Given the description of an element on the screen output the (x, y) to click on. 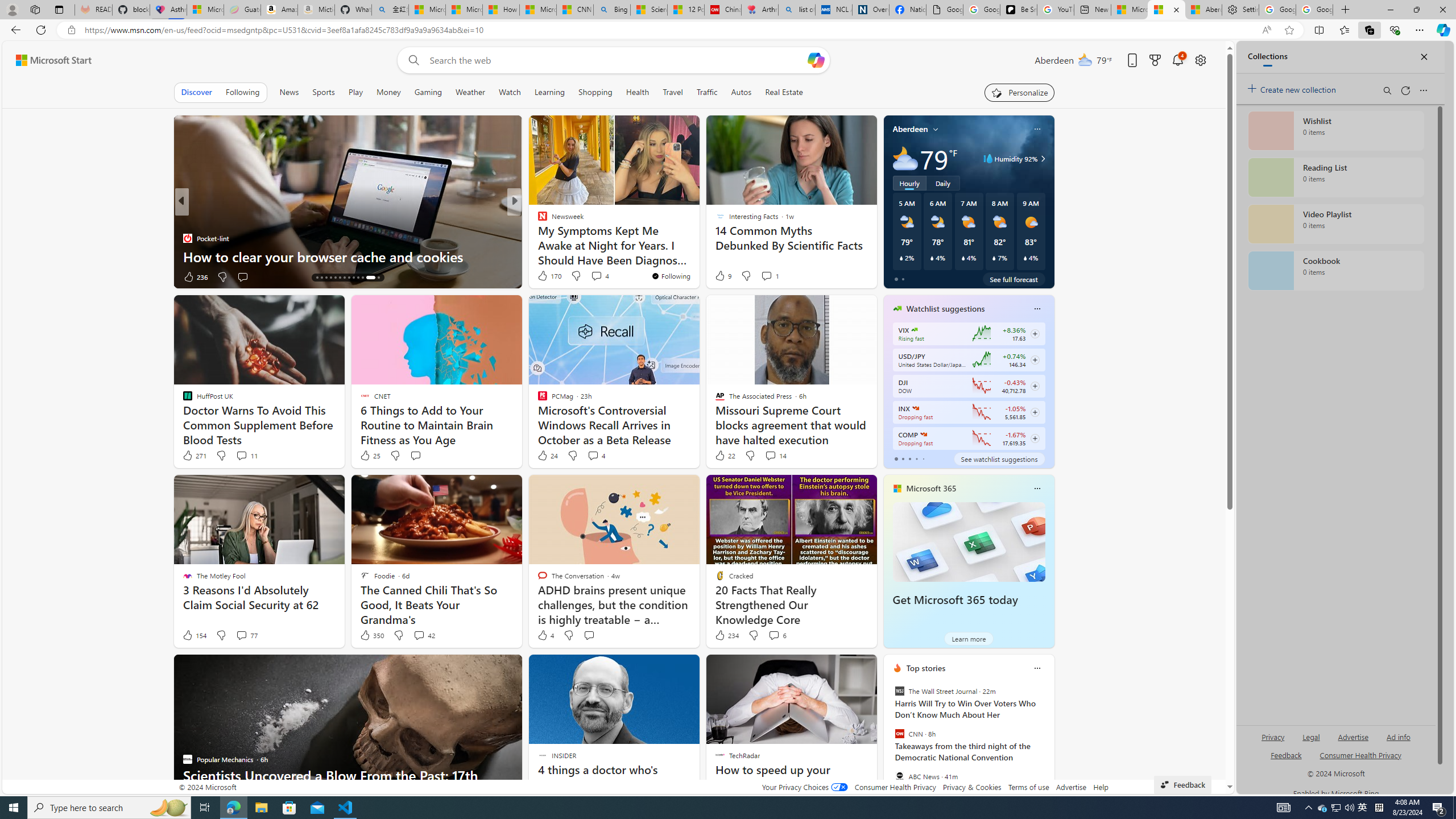
Skip to footer (46, 59)
AutomationID: tab-14 (317, 277)
You're following Newsweek (670, 275)
Learning (549, 92)
Watch (509, 92)
AutomationID: tab-22 (353, 277)
AutomationID: tab-25 (367, 277)
Microsoft-Report a Concern to Bing (205, 9)
Skip to content (49, 59)
tab-3 (916, 458)
Start the conversation (588, 635)
